Given the description of an element on the screen output the (x, y) to click on. 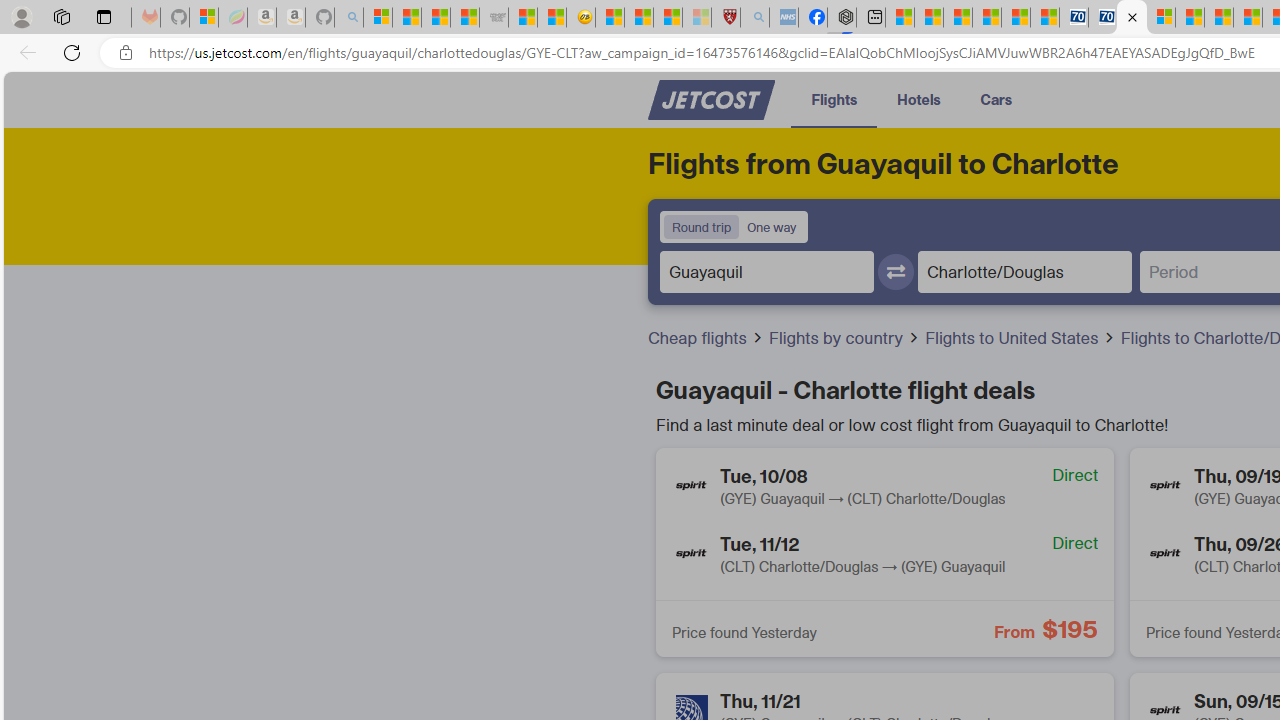
Robert H. Shmerling, MD - Harvard Health (725, 17)
12 Popular Science Lies that Must be Corrected - Sleeping (696, 17)
Cheap flights (699, 337)
Cheap flights (706, 337)
Departure place (767, 271)
Cheap Car Rentals - Save70.com (1073, 17)
Flights (834, 98)
